Given the description of an element on the screen output the (x, y) to click on. 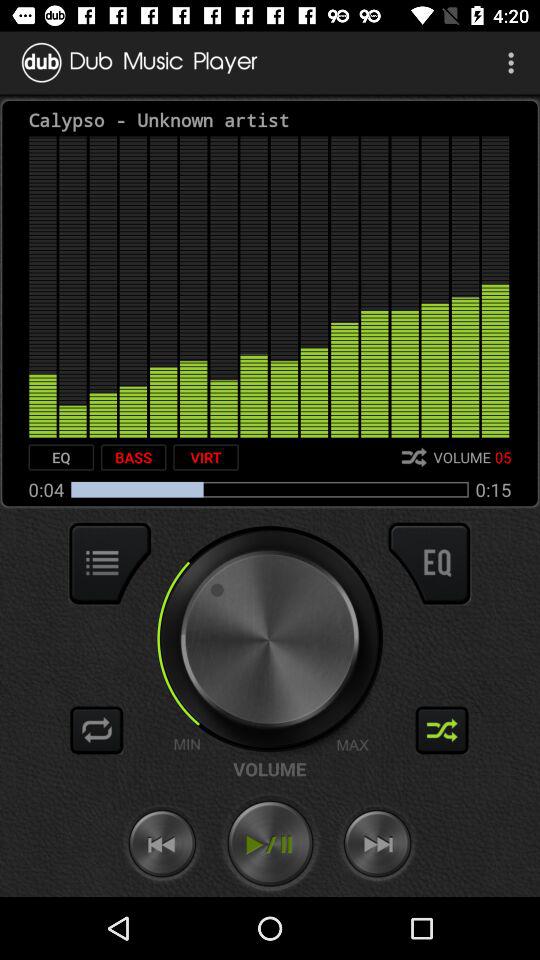
toggle random option (442, 730)
